Given the description of an element on the screen output the (x, y) to click on. 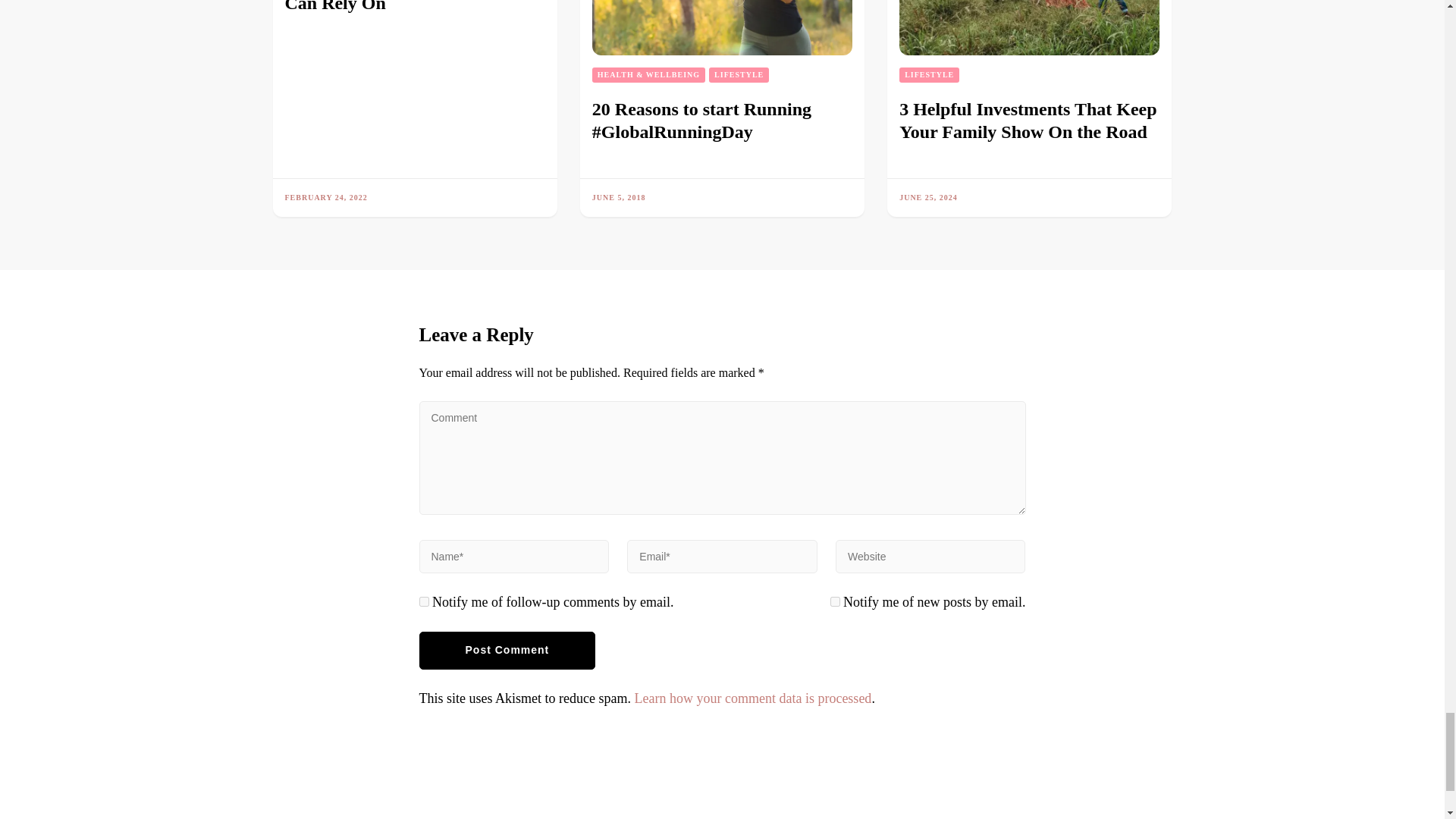
subscribe (423, 601)
subscribe (834, 601)
Post Comment (507, 650)
